Given the description of an element on the screen output the (x, y) to click on. 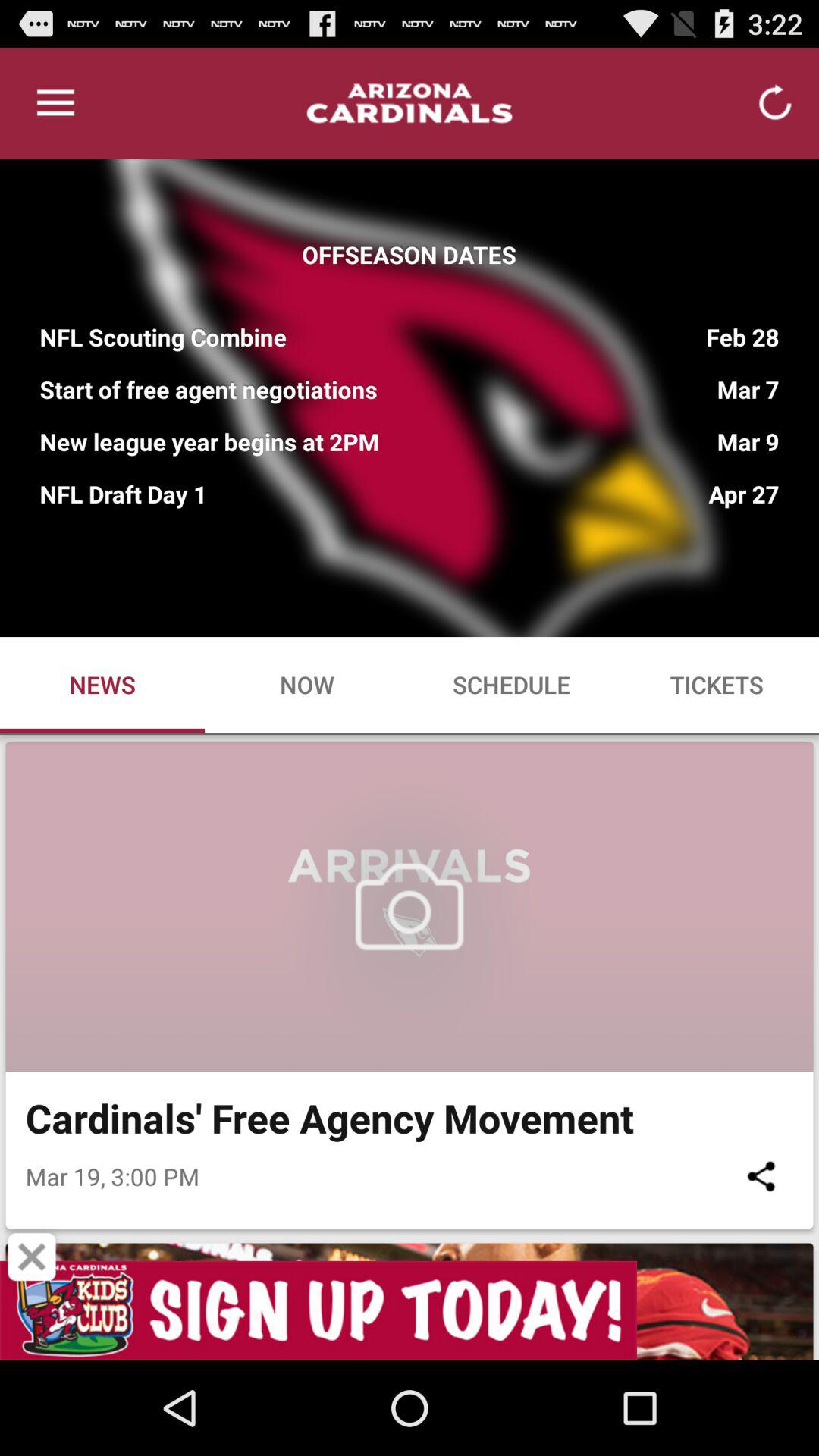
sign up today (409, 1310)
